Given the description of an element on the screen output the (x, y) to click on. 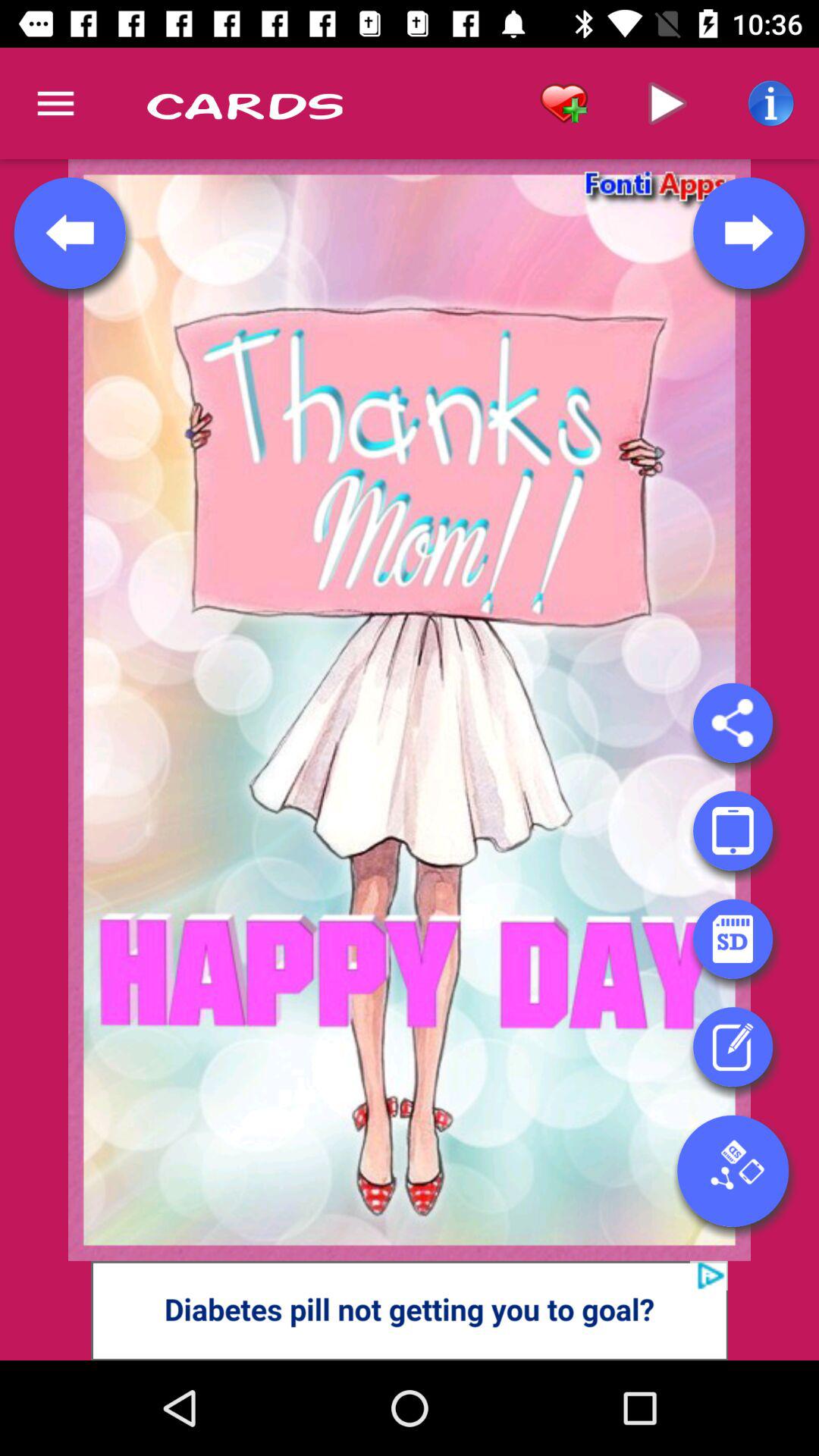
go to back (69, 233)
